Given the description of an element on the screen output the (x, y) to click on. 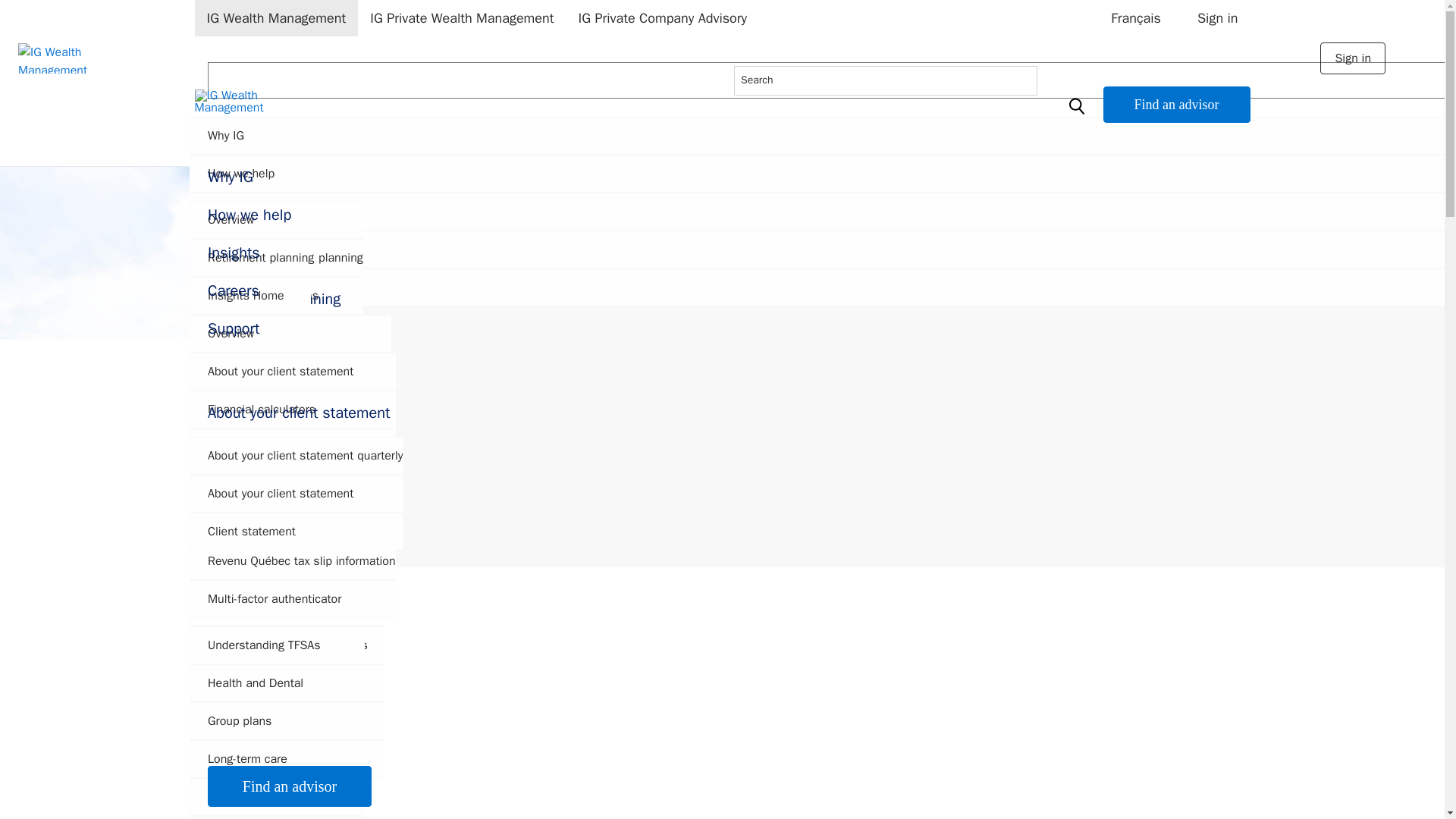
IG Private Company Advisory (663, 18)
IG Private Wealth Management (462, 18)
IG Wealth Management (275, 18)
Sign in (1353, 58)
Sign in (1216, 18)
